Given the description of an element on the screen output the (x, y) to click on. 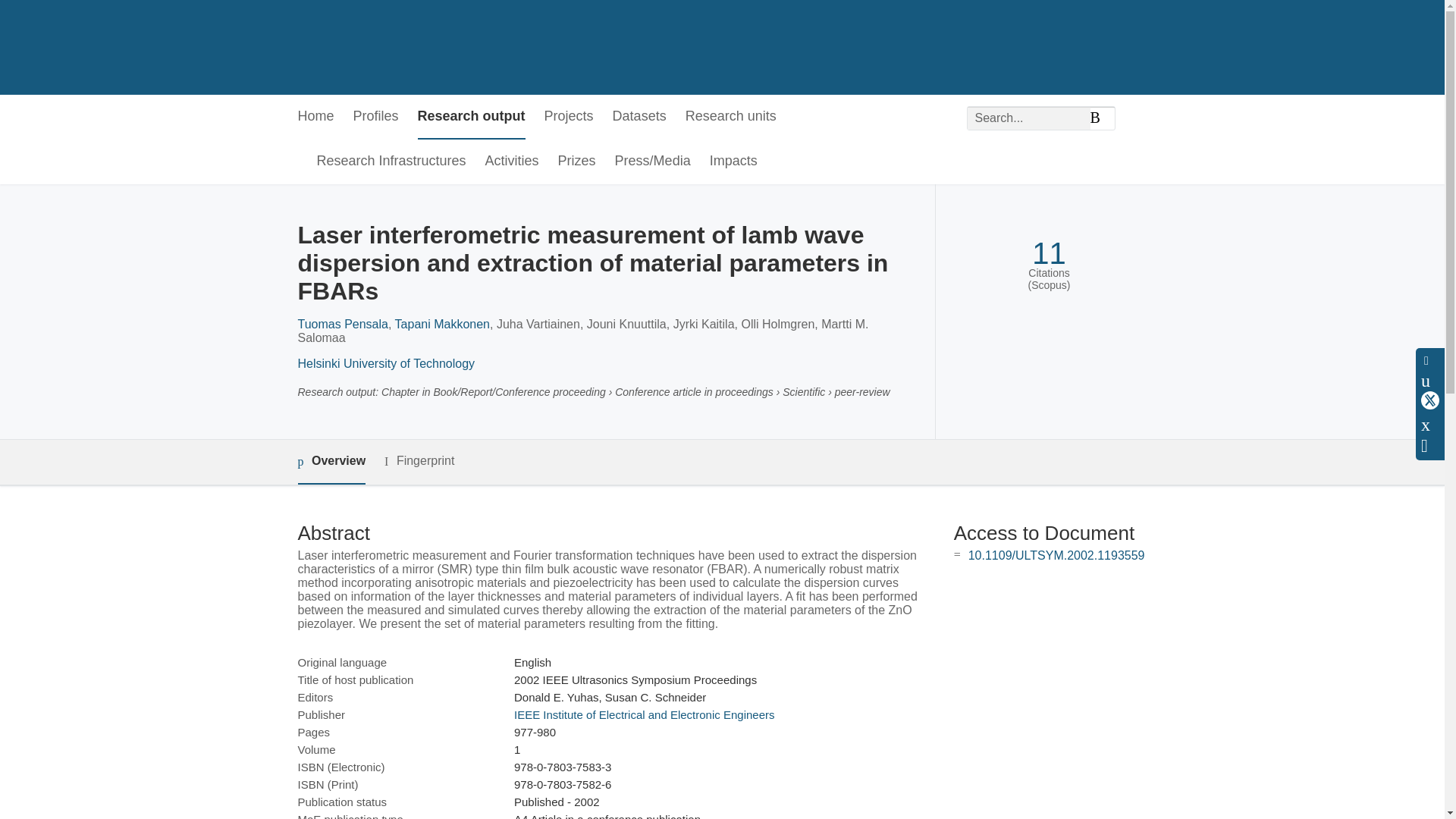
VTT's Research Information Portal Home (322, 47)
Activities (511, 161)
Projects (569, 117)
Fingerprint (419, 461)
11 (1048, 253)
IEEE Institute of Electrical and Electronic Engineers (643, 714)
Profiles (375, 117)
Tuomas Pensala (342, 323)
Helsinki University of Technology (385, 363)
Research units (730, 117)
